Given the description of an element on the screen output the (x, y) to click on. 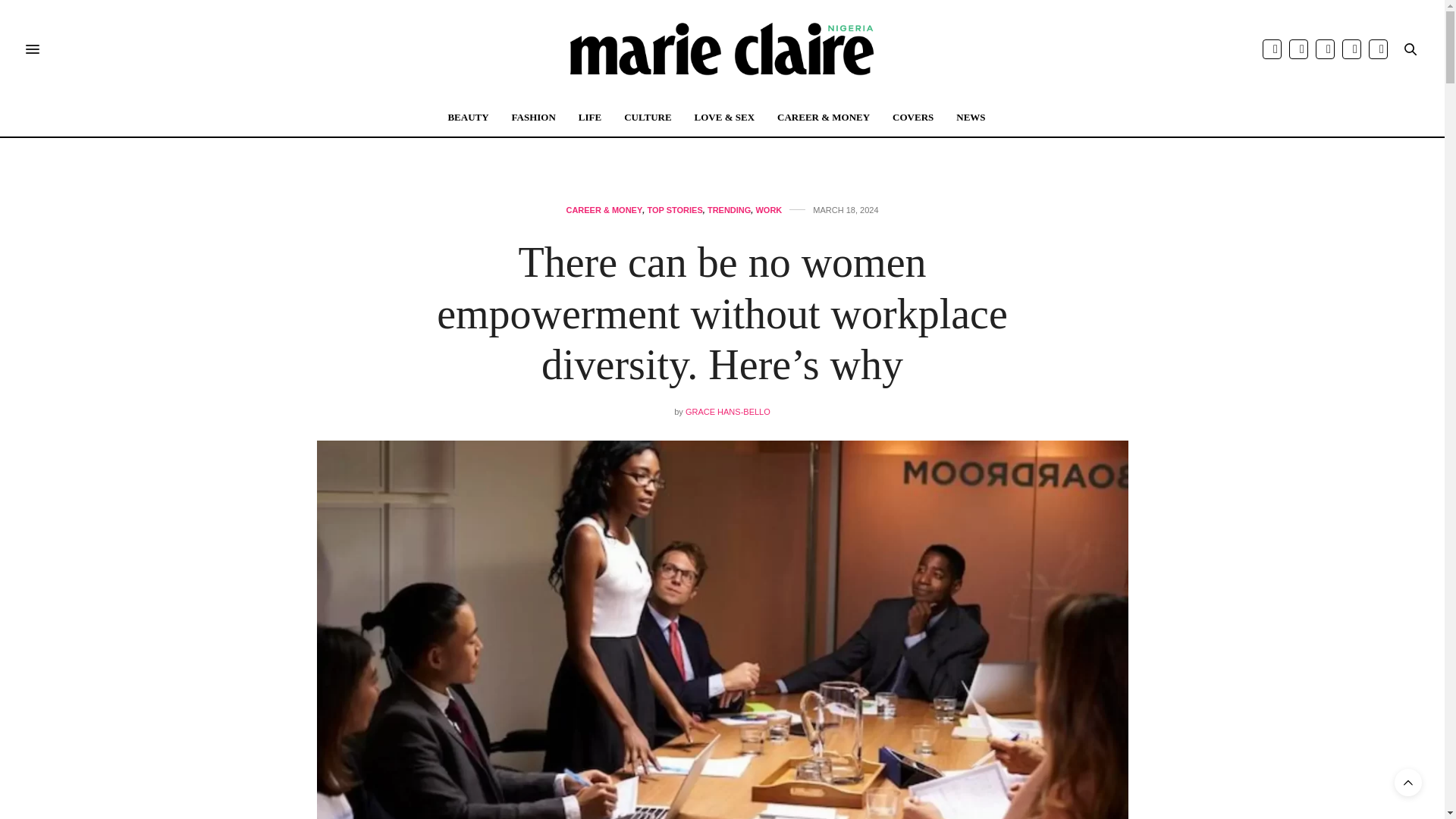
TRENDING (729, 210)
COVERS (912, 117)
BEAUTY (466, 117)
Scroll To Top (1408, 782)
CULTURE (647, 117)
FASHION (534, 117)
TOP STORIES (673, 210)
Marie Claire Nigeria (721, 49)
GRACE HANS-BELLO (727, 411)
Posts by Grace Hans-Bello (727, 411)
WORK (768, 210)
